Given the description of an element on the screen output the (x, y) to click on. 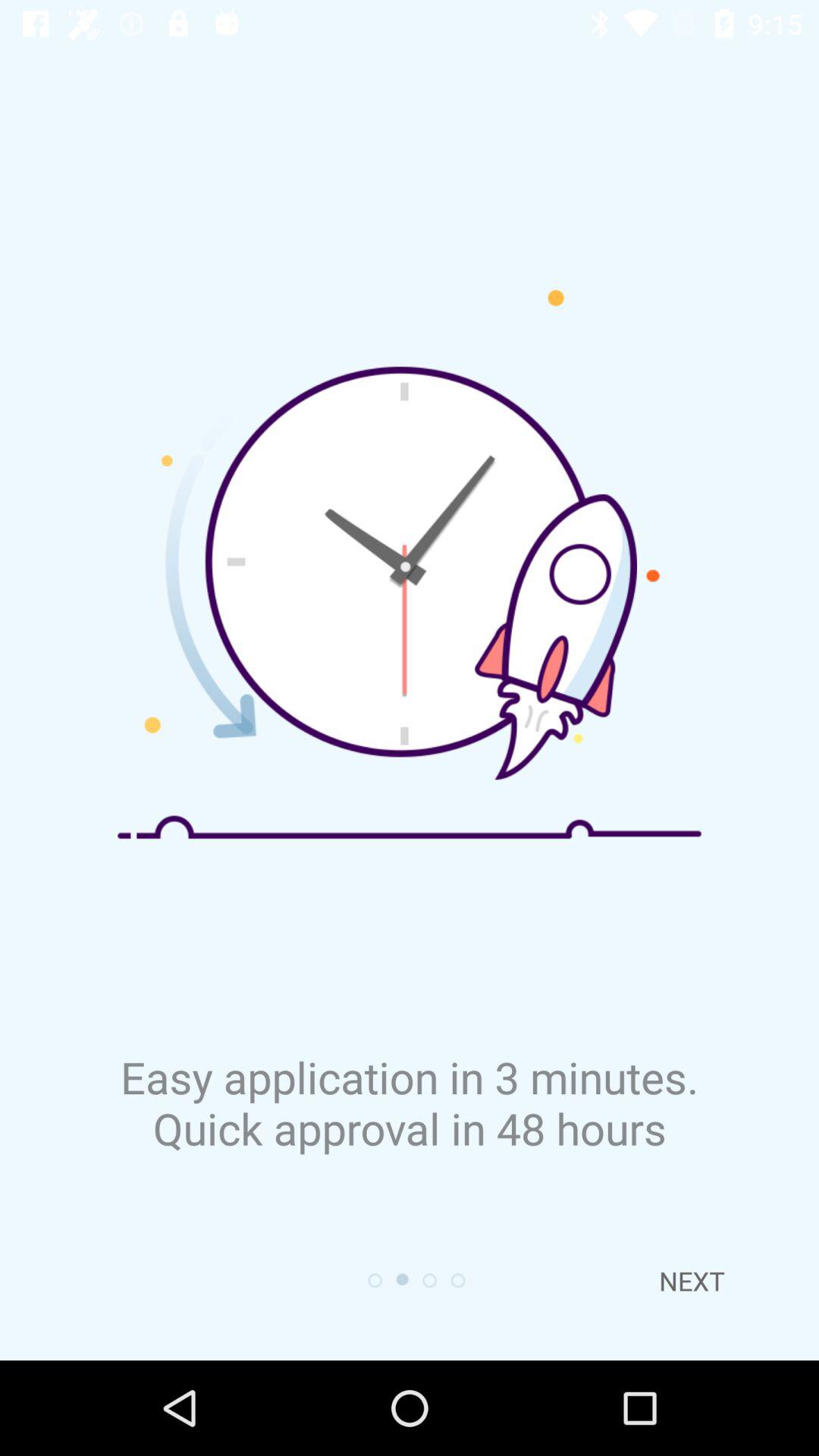
press the next (691, 1280)
